Given the description of an element on the screen output the (x, y) to click on. 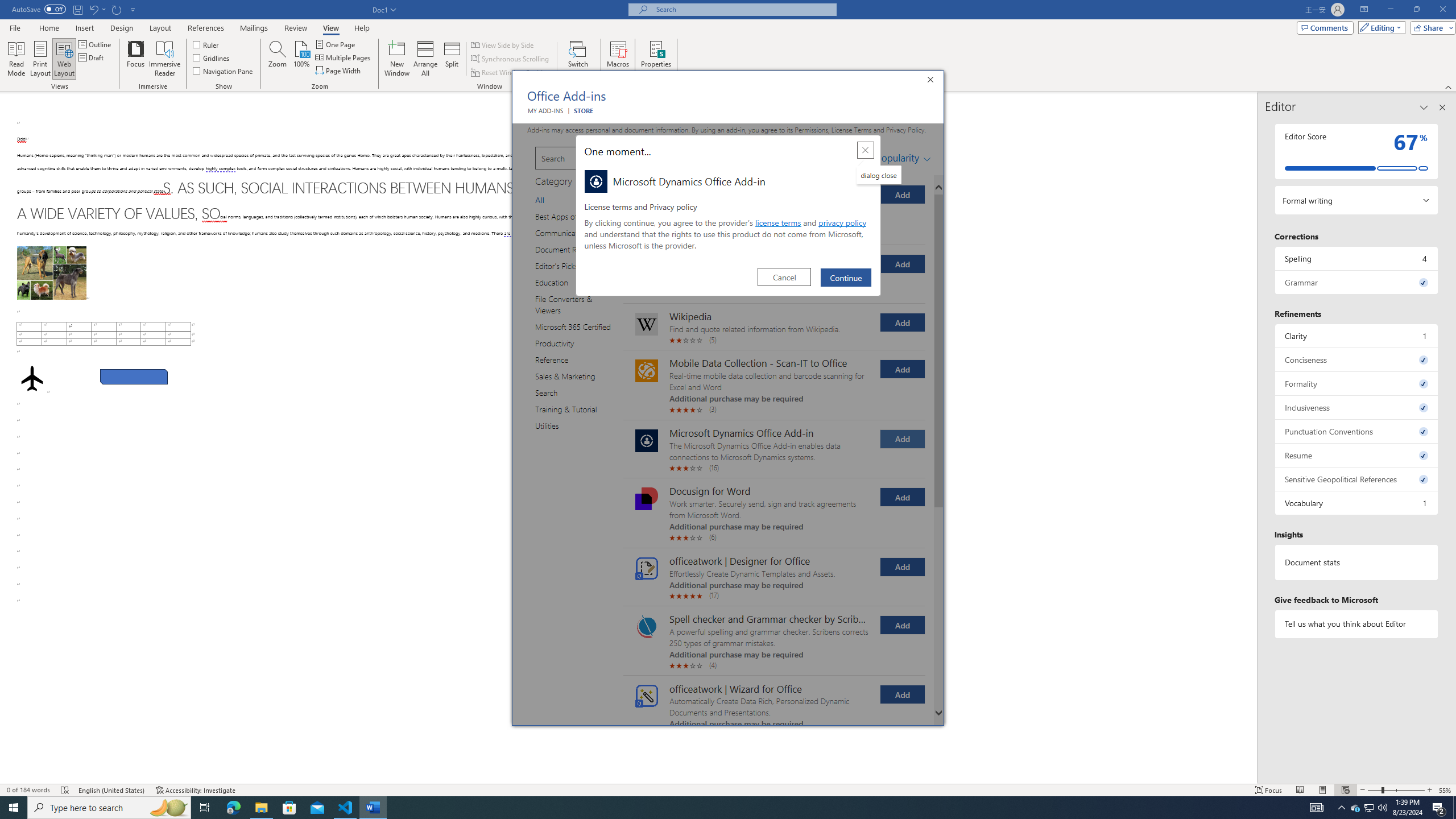
Immersive Reader (165, 58)
Vocabulary, 1 issue. Press space or enter to review items. (1356, 502)
Undo Paragraph Alignment (96, 9)
Conciseness, 0 issues. Press space or enter to review items. (1356, 359)
File Explorer - 1 running window (261, 807)
